Given the description of an element on the screen output the (x, y) to click on. 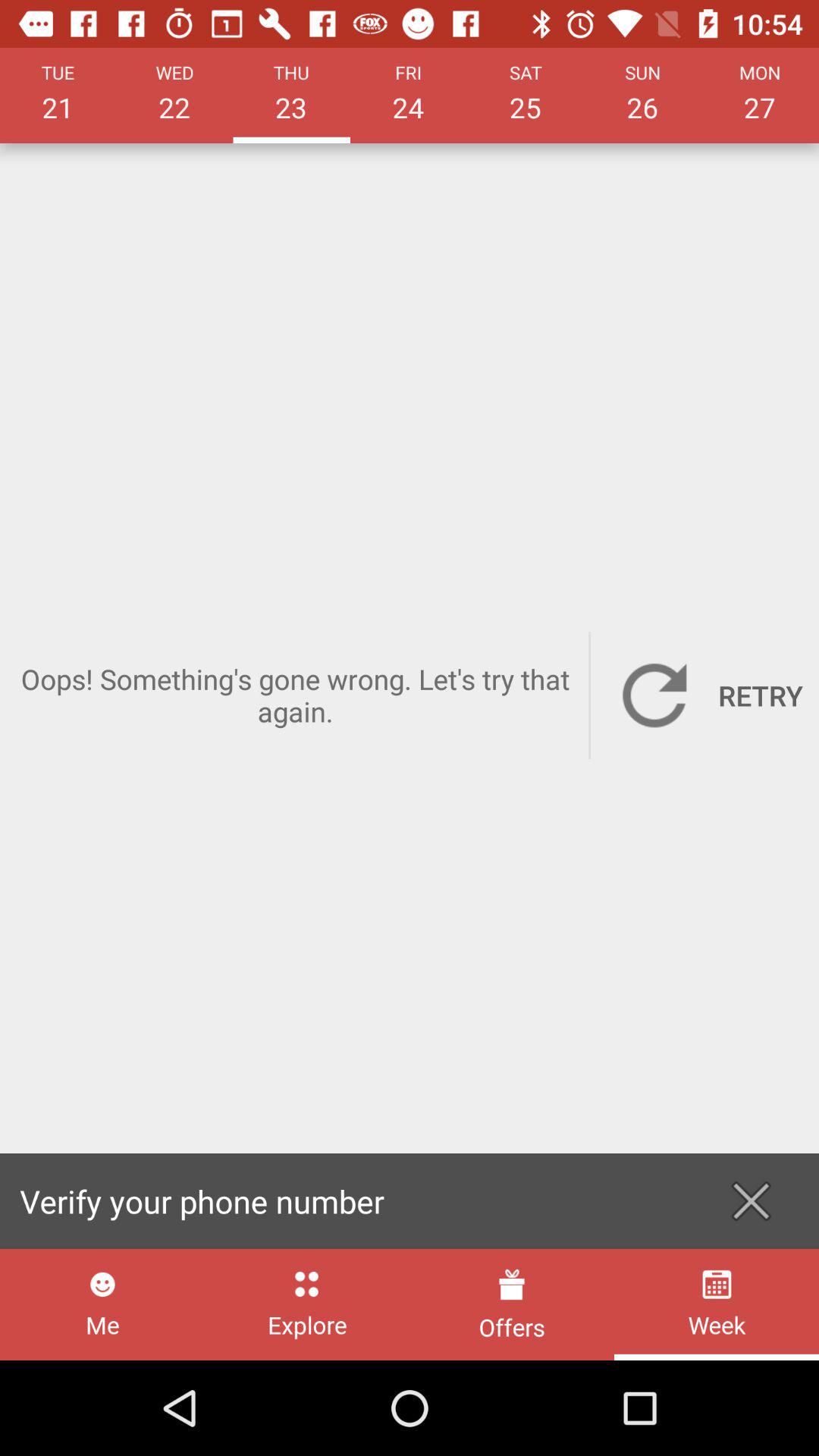
tap item to the left of the offers (306, 1304)
